Given the description of an element on the screen output the (x, y) to click on. 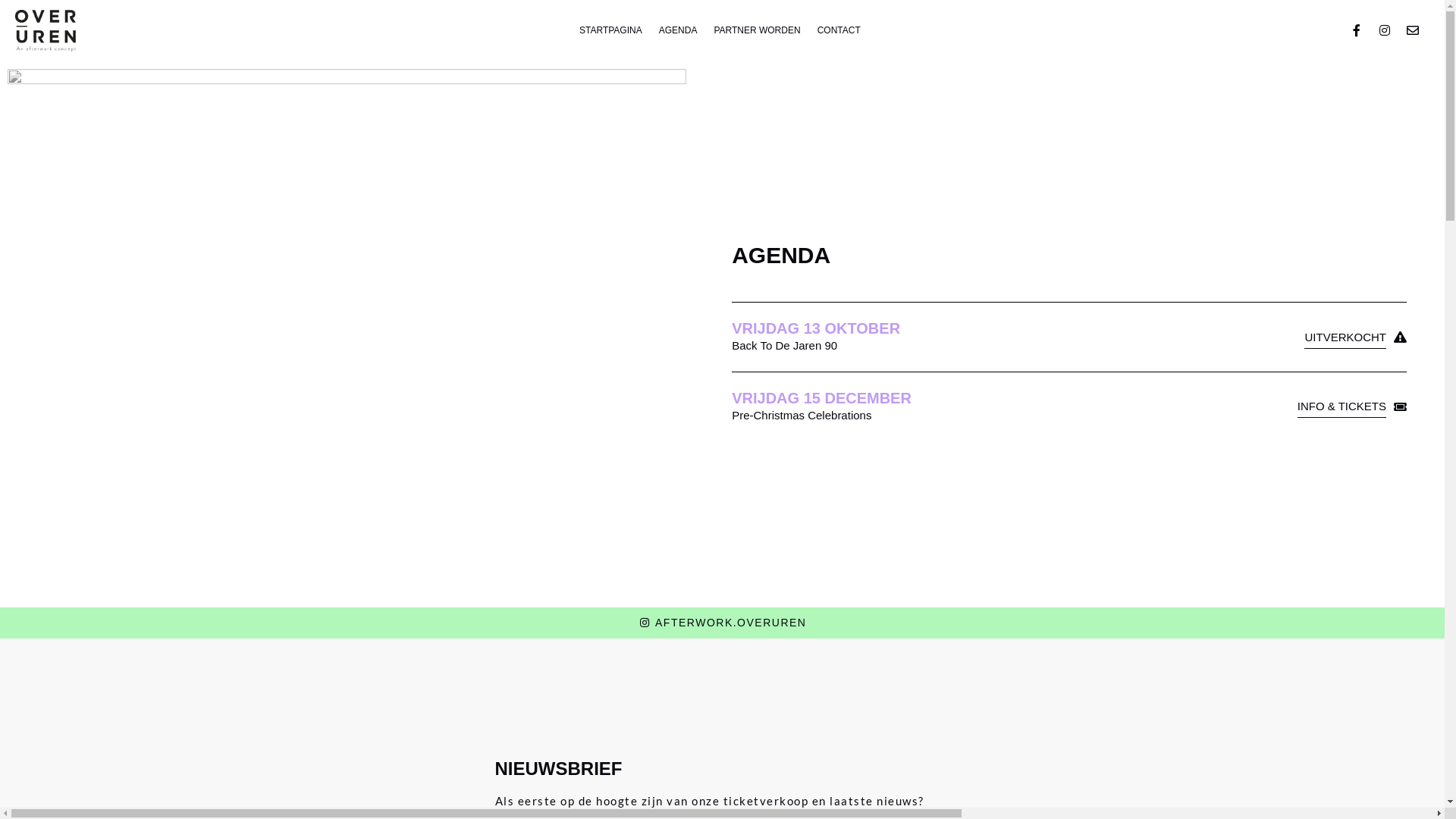
CONTACT Element type: text (839, 30)
STARTPAGINA Element type: text (610, 30)
UITVERKOCHT Element type: text (1355, 337)
AGENDA Element type: text (678, 30)
PARTNER WORDEN Element type: text (756, 30)
INFO & TICKETS Element type: text (1351, 406)
